Given the description of an element on the screen output the (x, y) to click on. 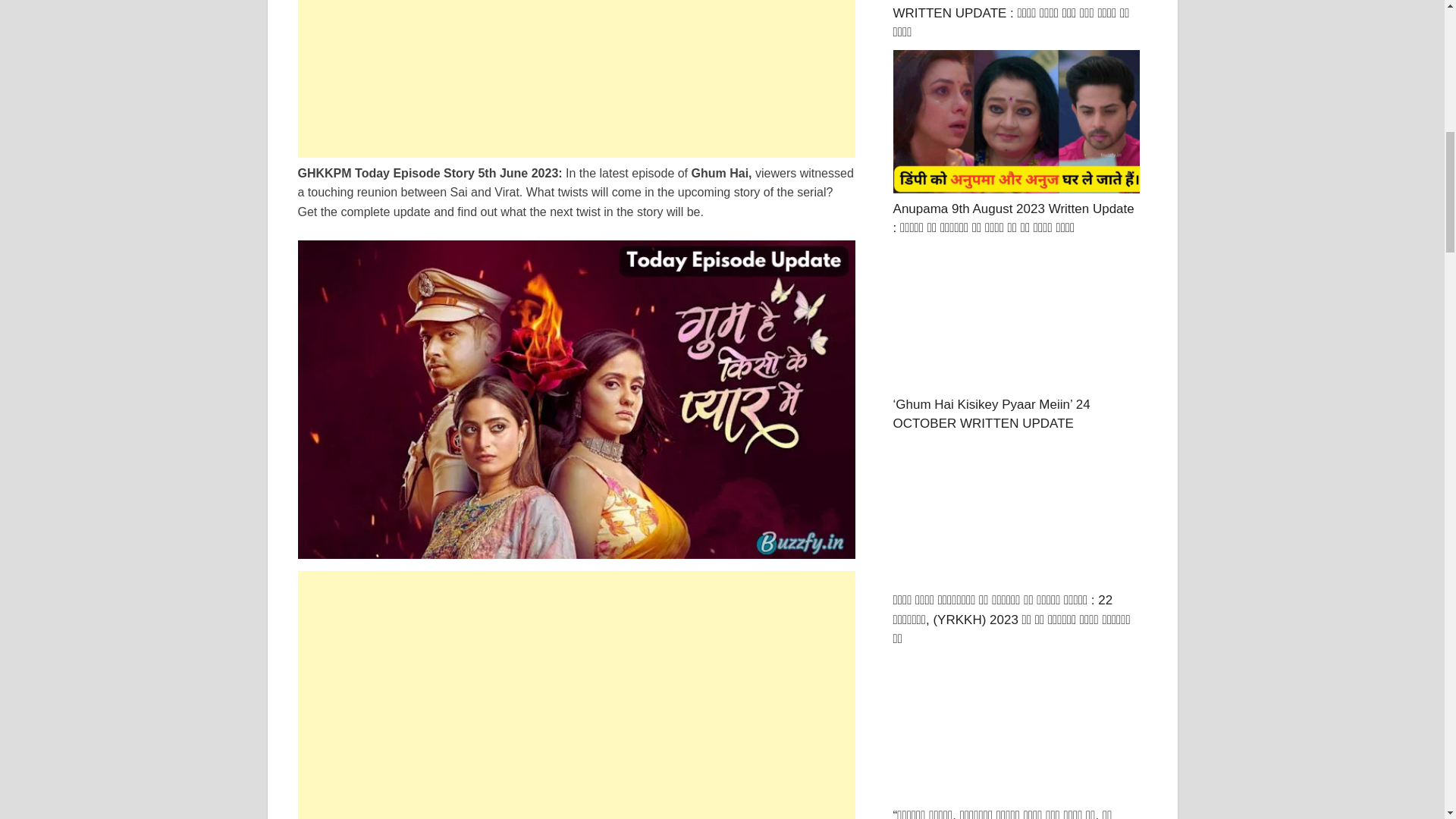
Advertisement (575, 676)
Advertisement (575, 79)
Advertisement (575, 800)
